Given the description of an element on the screen output the (x, y) to click on. 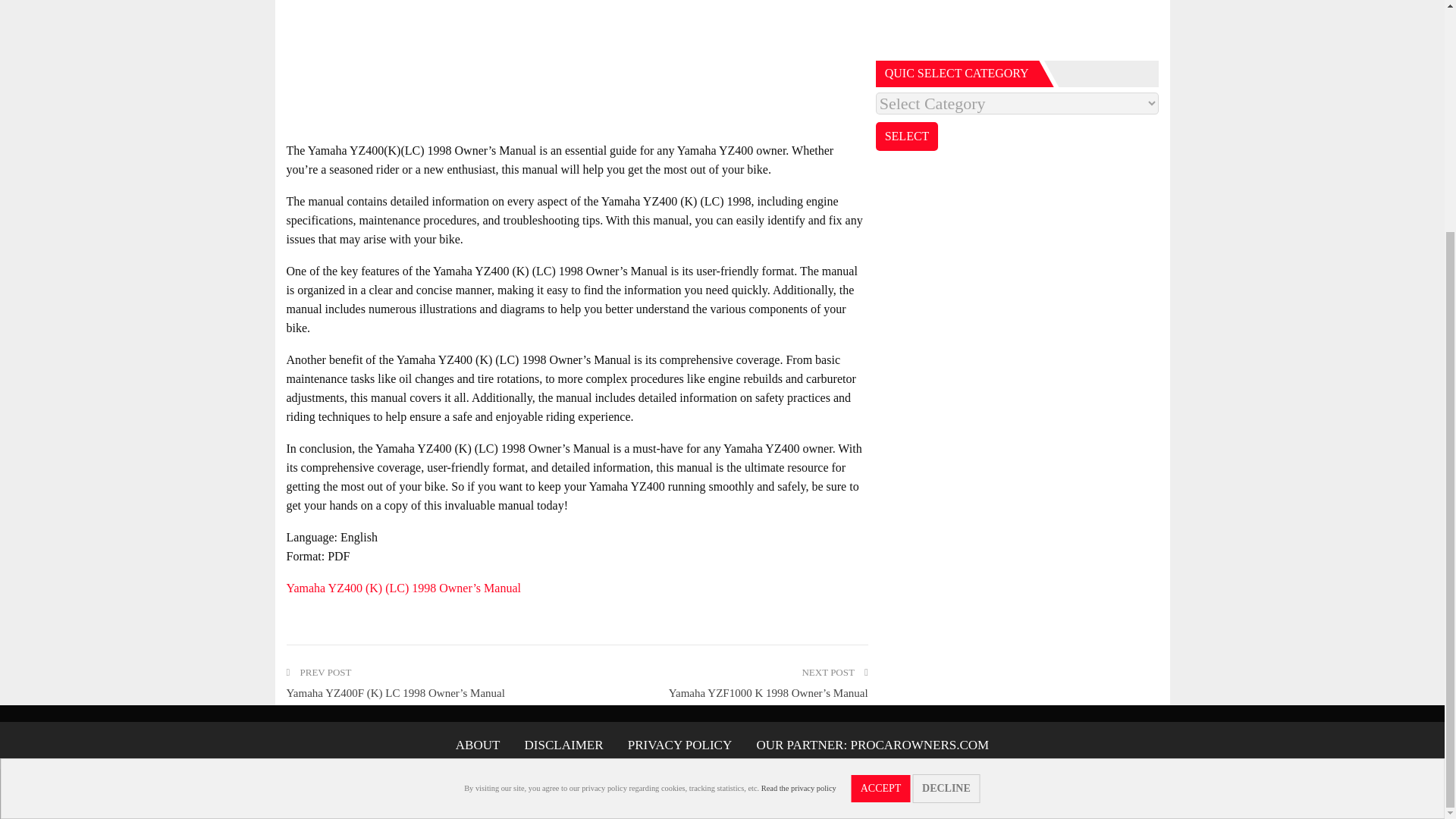
Advertisement (1017, 26)
ACCEPT (881, 473)
ABOUT (477, 744)
Read the privacy policy (798, 473)
DECLINE (945, 473)
Advertisement (576, 65)
SELECT (907, 136)
